Given the description of an element on the screen output the (x, y) to click on. 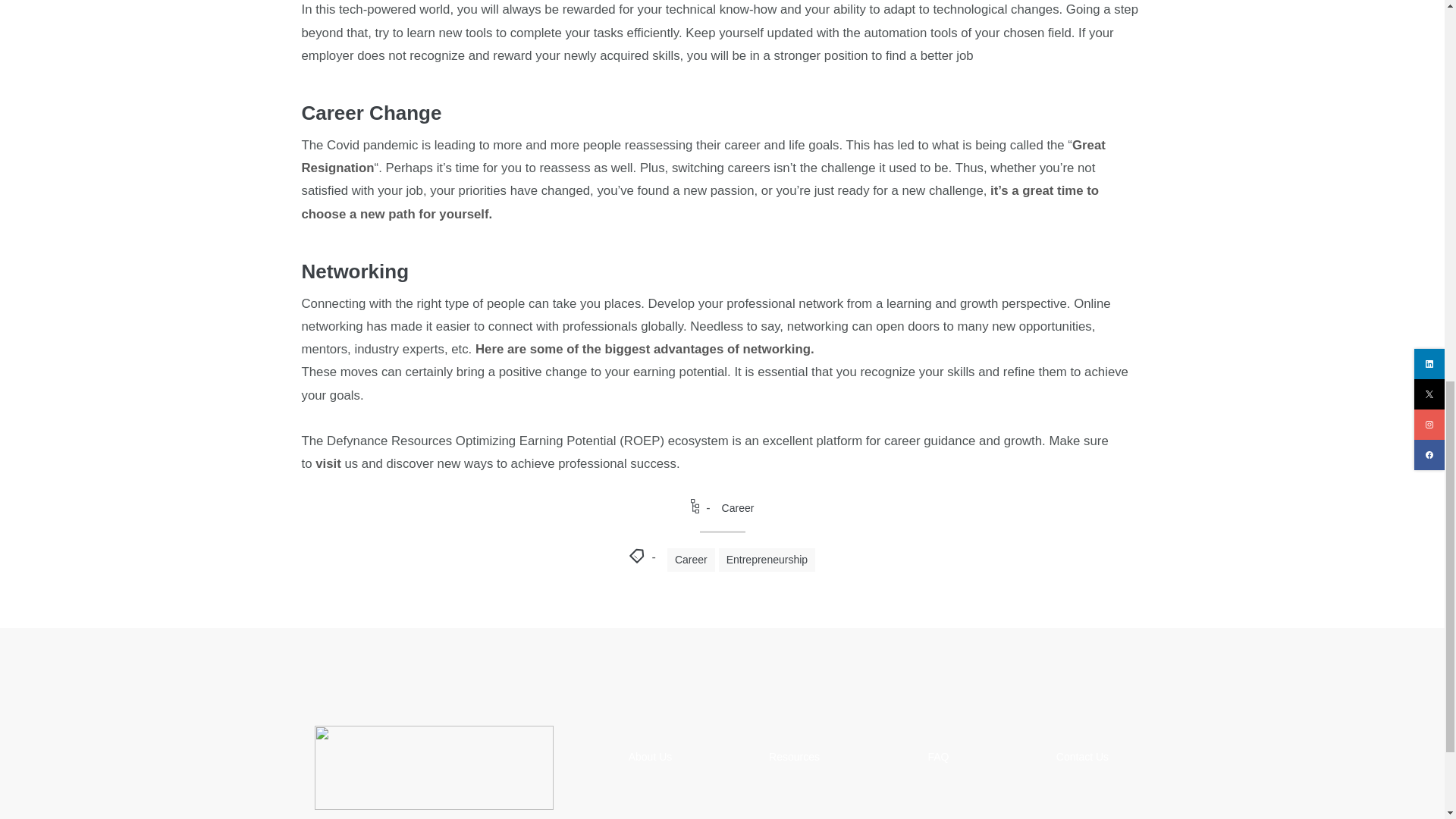
Career (738, 508)
Contact Us (1082, 757)
Entrepreneurship (767, 559)
About Us (650, 757)
Career (690, 559)
Resources (793, 757)
visit (327, 463)
Great Resignation (703, 156)
Here are some of the biggest advantages of networking. (644, 349)
Here are some of the biggest advantages of networking. (644, 349)
